Given the description of an element on the screen output the (x, y) to click on. 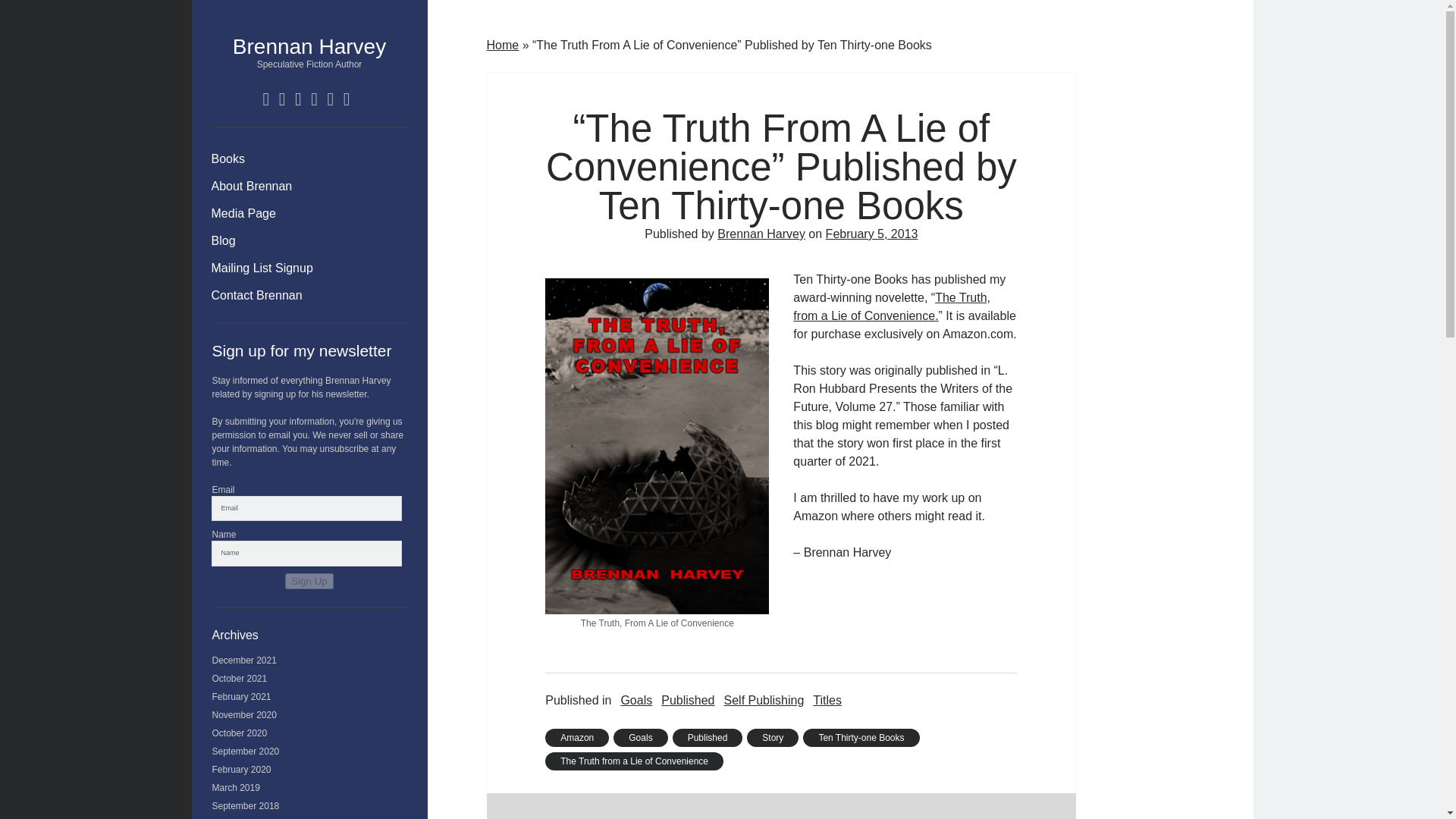
Media Page (243, 213)
Blog (222, 240)
View all posts in Goals (636, 700)
View all posts tagged The Truth from a Lie of Convenience (633, 761)
October 2020 (239, 733)
December 2021 (244, 660)
Sign Up (309, 580)
September 2020 (245, 751)
View all posts in Titles (826, 700)
View all posts tagged Amazon (576, 737)
View all posts in Self Publishing (763, 700)
About Brennan (251, 186)
View all posts in Published (687, 700)
View all posts tagged Published (707, 737)
February 2021 (241, 696)
